Given the description of an element on the screen output the (x, y) to click on. 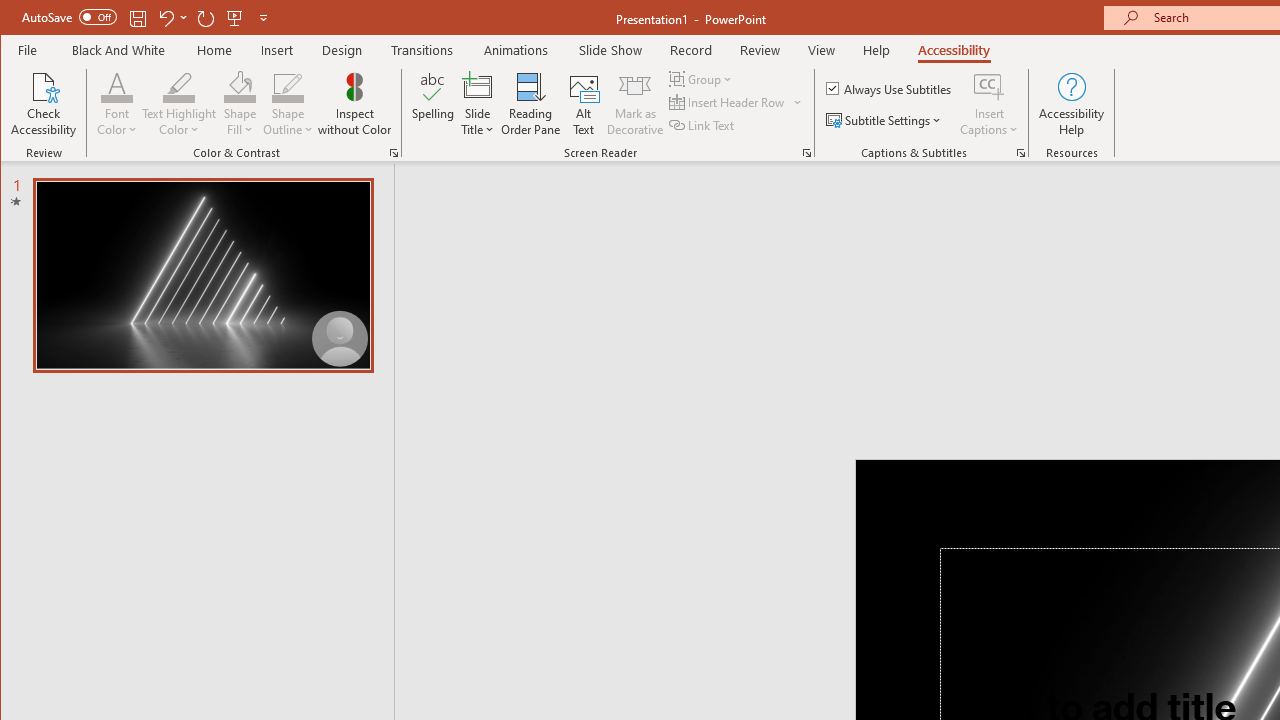
Captions & Subtitles (1020, 152)
Subtitle Settings (885, 119)
